Given the description of an element on the screen output the (x, y) to click on. 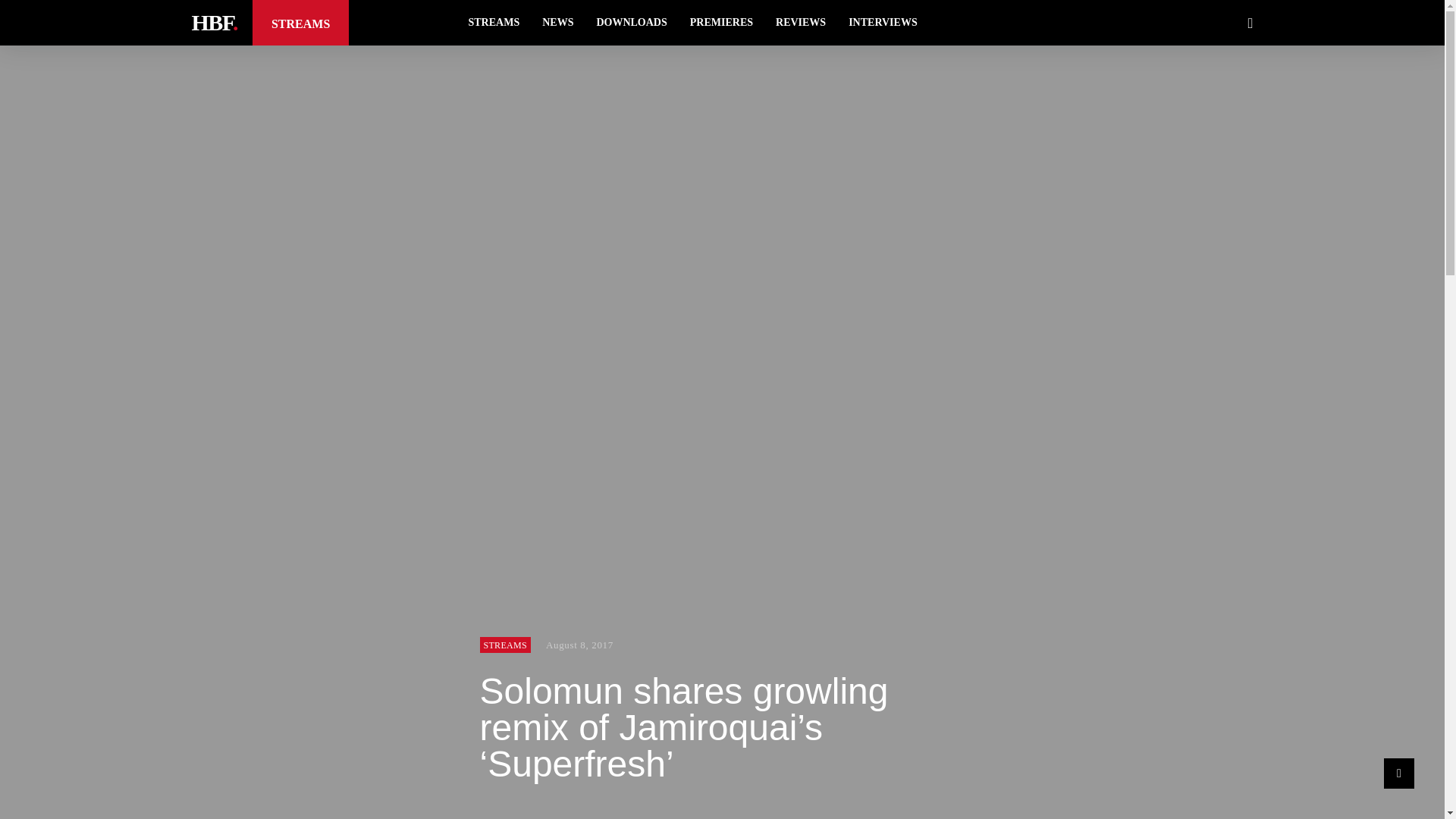
View all posts in  (504, 644)
REVIEWS (800, 22)
PREMIERES (721, 22)
INTERVIEWS (882, 22)
NEWS (558, 22)
HBF. (212, 22)
STREAMS (504, 644)
STREAMS (494, 22)
DOWNLOADS (631, 22)
August 8, 2017 (579, 644)
